Given the description of an element on the screen output the (x, y) to click on. 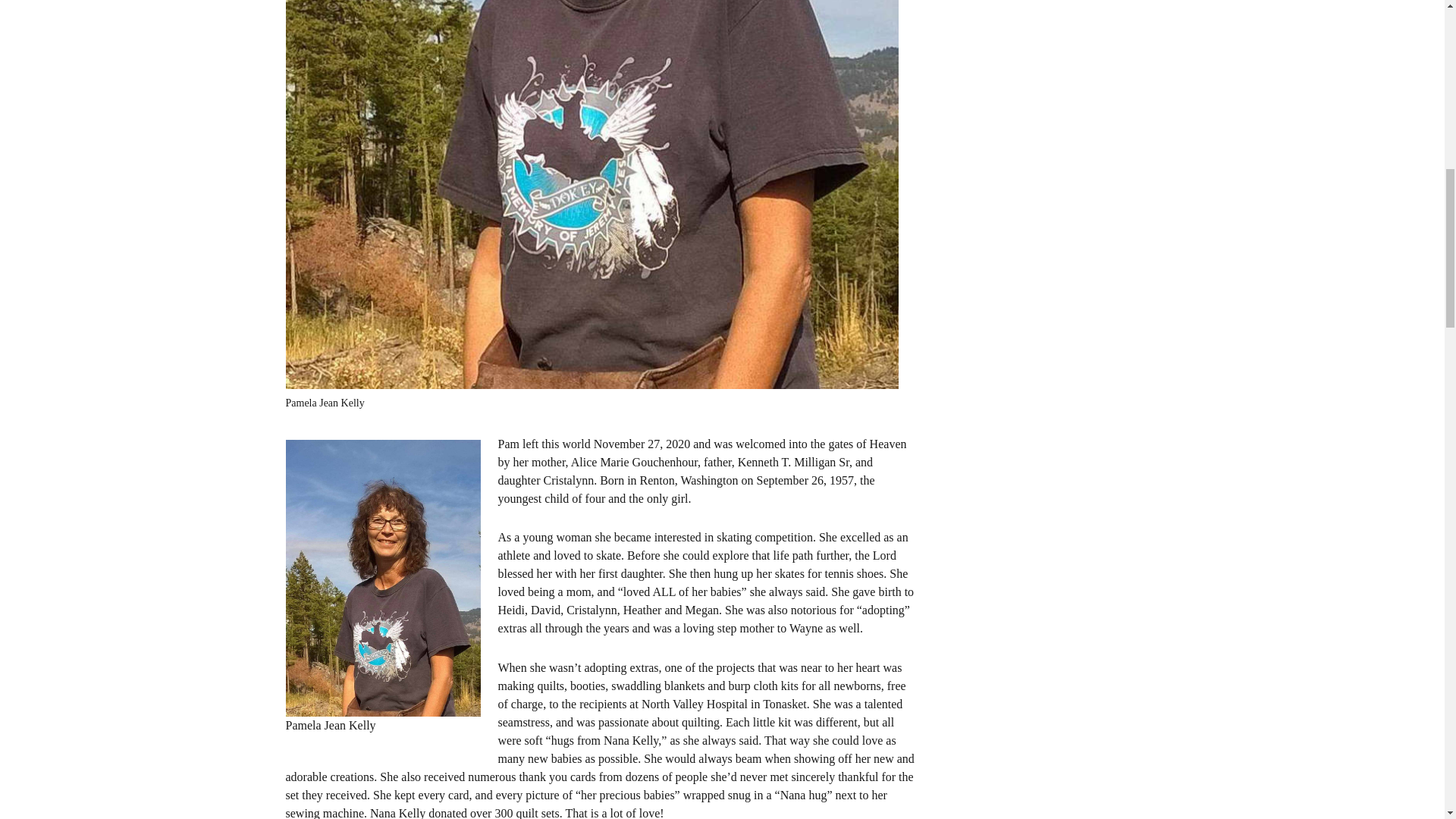
3rd party ad content (1044, 76)
